Given the description of an element on the screen output the (x, y) to click on. 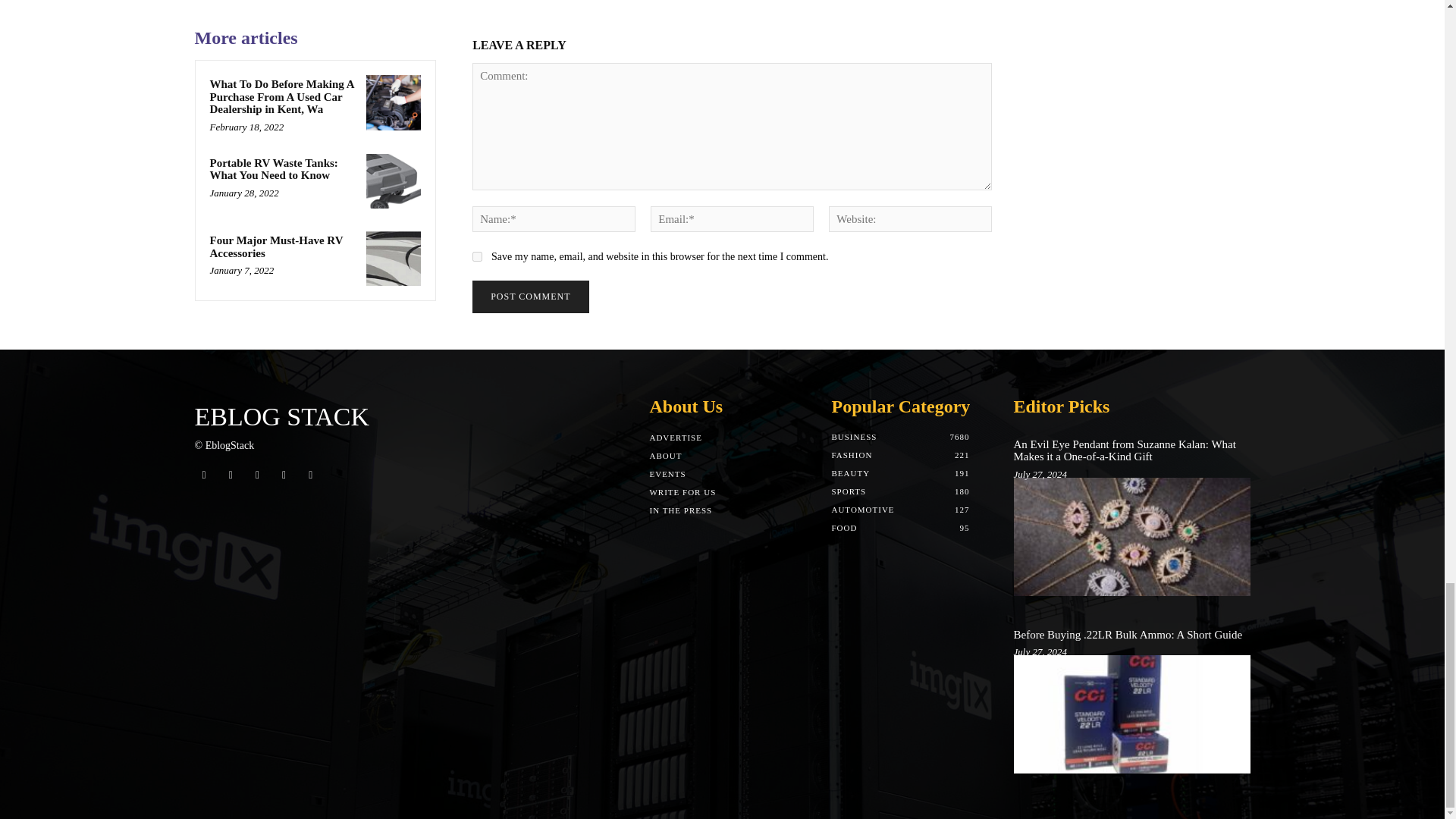
yes (476, 256)
Post Comment (529, 296)
